Given the description of an element on the screen output the (x, y) to click on. 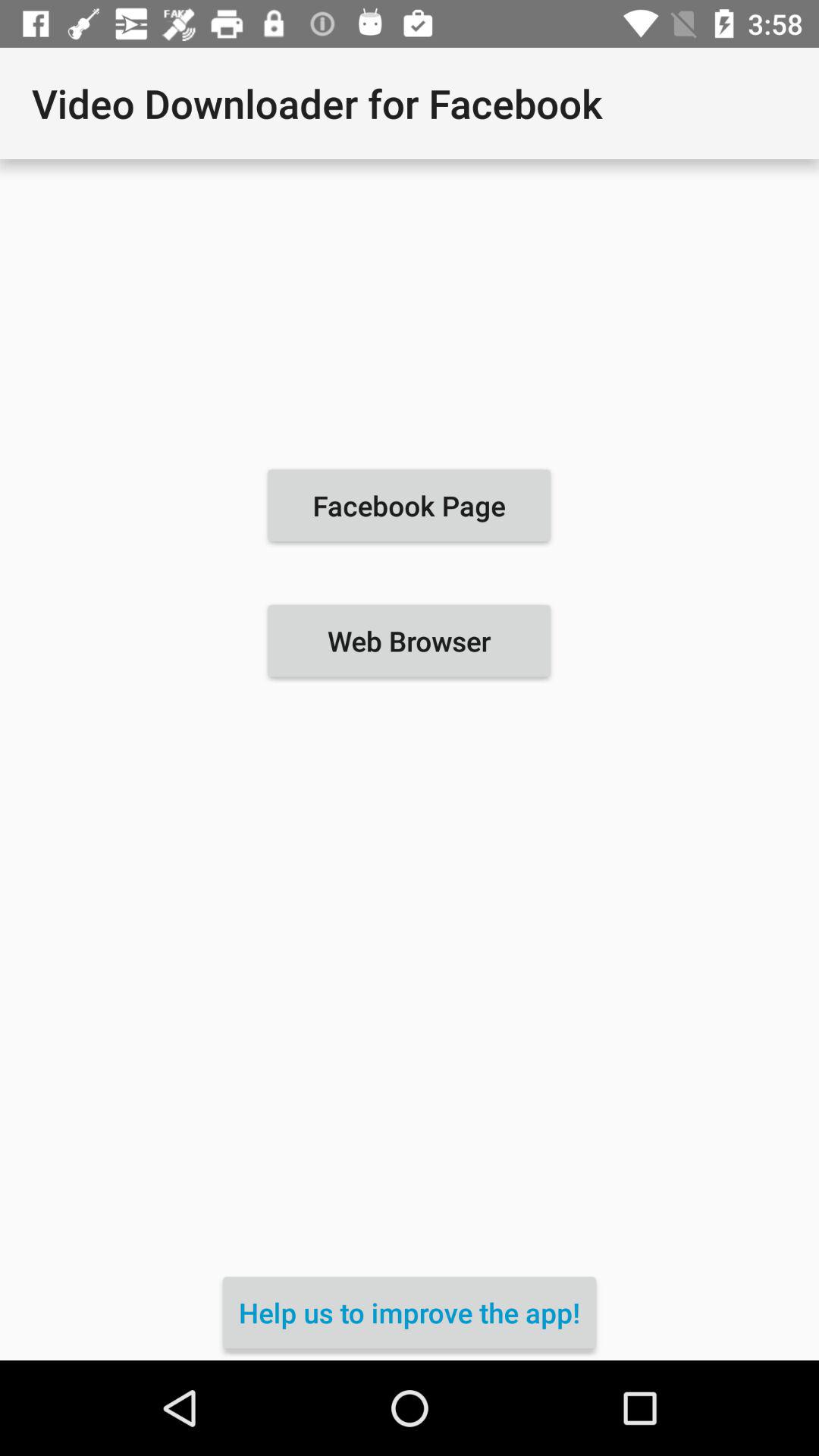
select help us to icon (409, 1312)
